Given the description of an element on the screen output the (x, y) to click on. 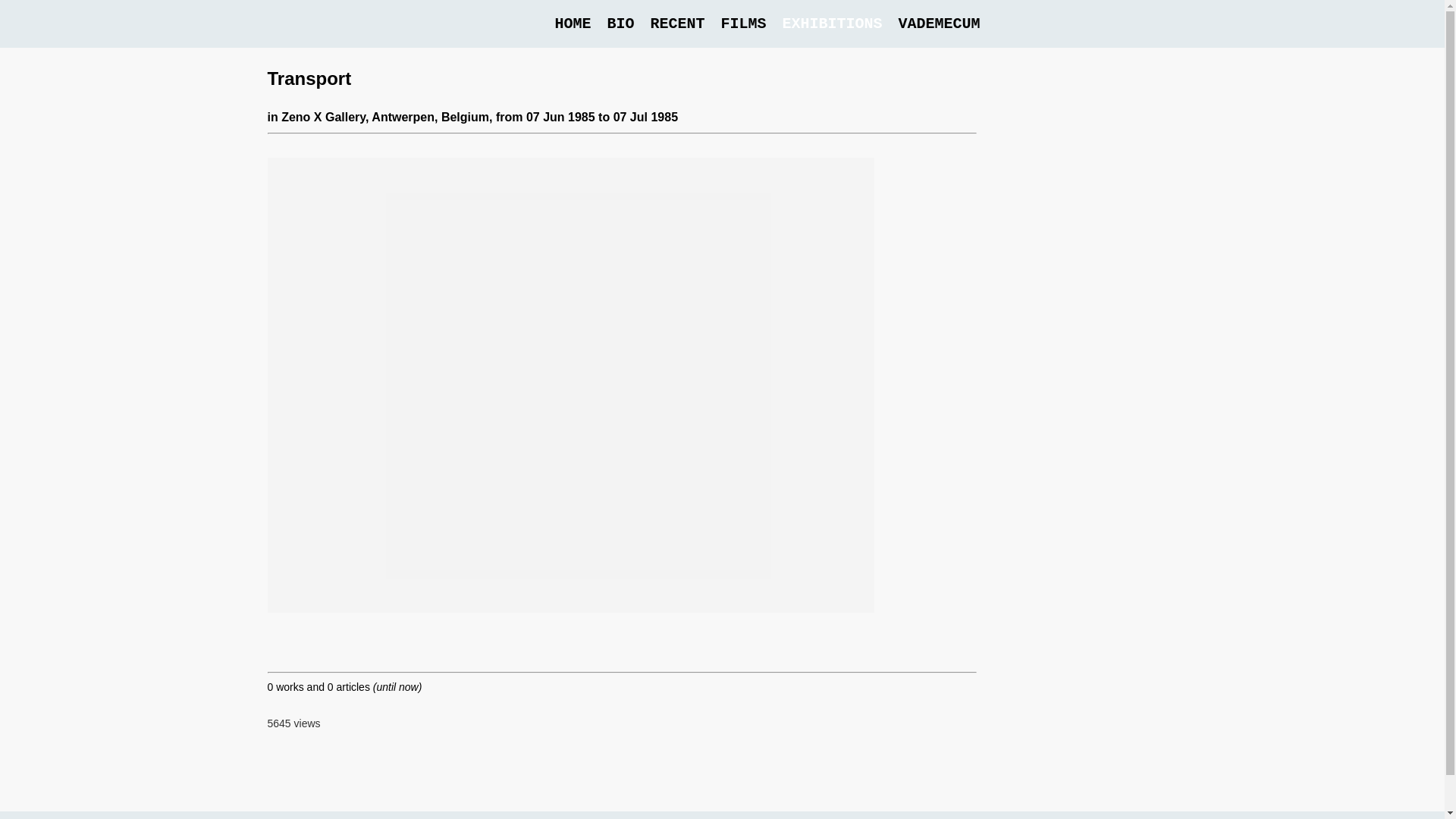
EXHIBITIONS Element type: text (831, 23)
FILMS Element type: text (742, 23)
HOME Element type: text (572, 23)
VADEMECUM Element type: text (938, 23)
BIO Element type: text (620, 23)
0 works and 0 articles (until now) Element type: text (343, 686)
RECENT Element type: text (677, 23)
Zeno X Gallery Element type: text (323, 116)
